Given the description of an element on the screen output the (x, y) to click on. 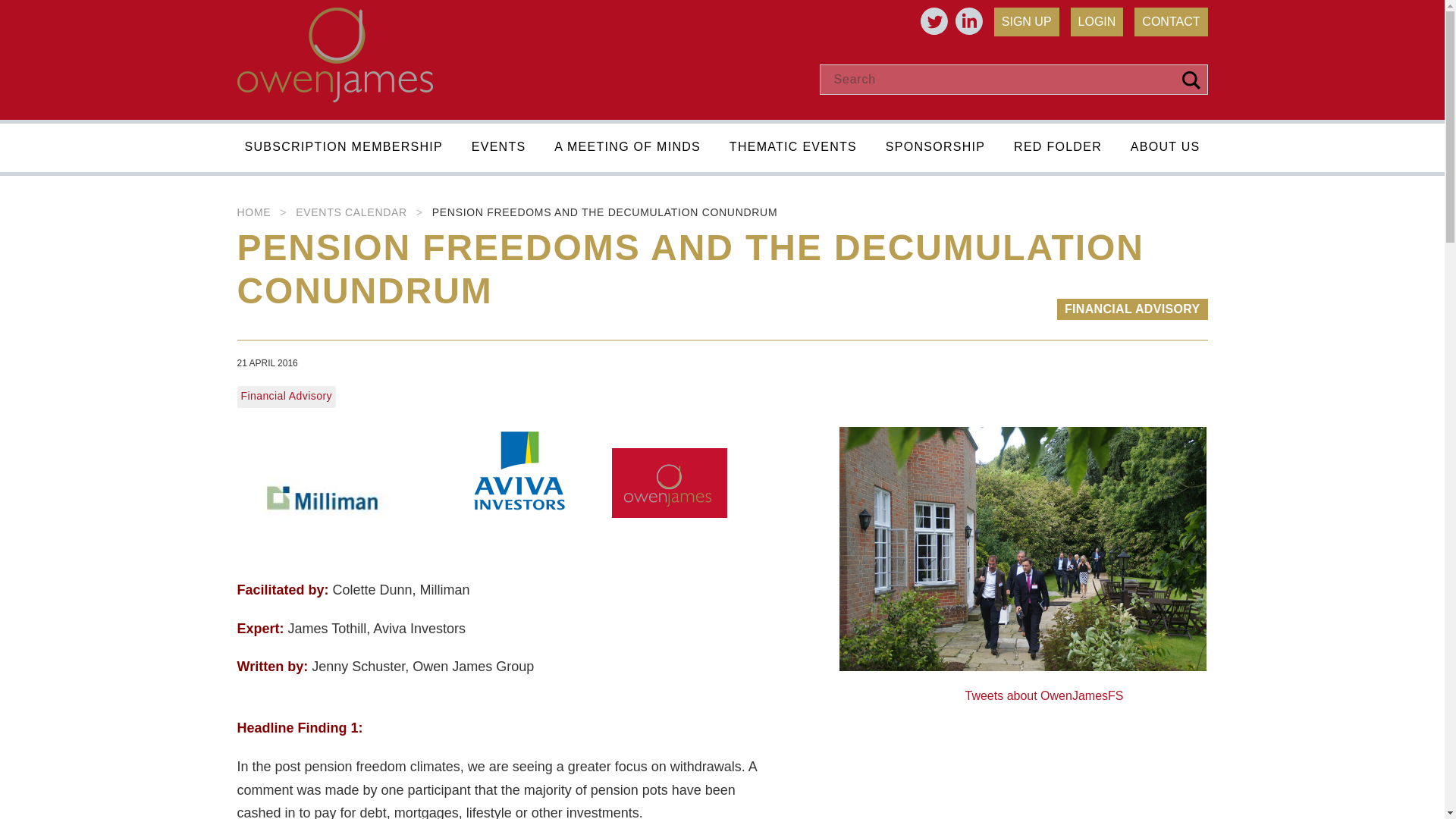
Owen James (333, 97)
RED FOLDER (1057, 153)
LinkedIn (968, 21)
Owen James (333, 54)
Login (1097, 21)
SIGN UP (1026, 21)
SUBSCRIPTION MEMBERSHIP (342, 153)
EVENTS (499, 153)
Twitter (933, 21)
Twitter (933, 21)
